Given the description of an element on the screen output the (x, y) to click on. 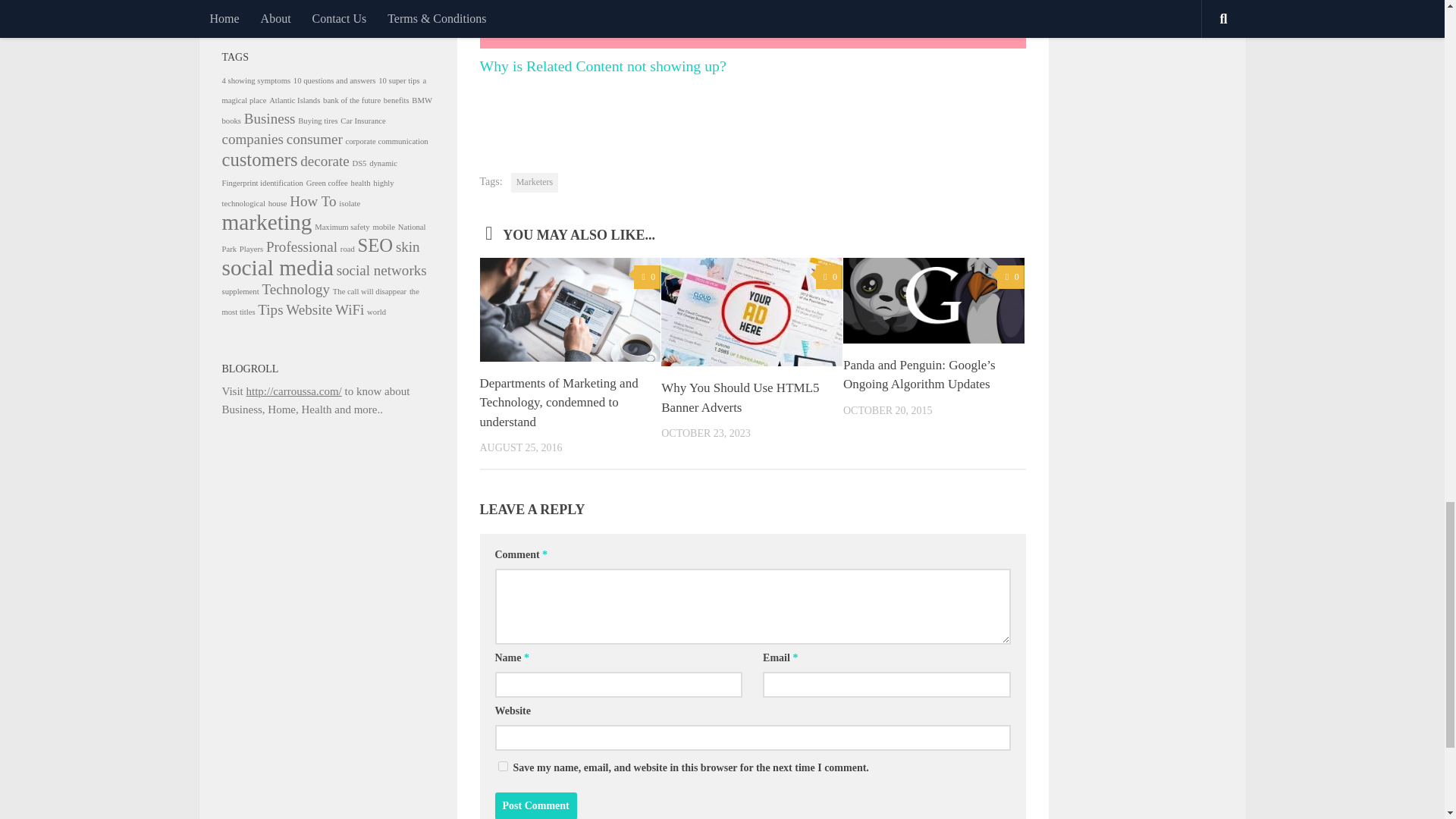
yes (501, 766)
Why is Related Content not showing up? (752, 38)
Why You Should Use HTML5 Banner Adverts (739, 397)
Marketers (535, 182)
0 (829, 277)
Post Comment (535, 805)
0 (647, 277)
